Given the description of an element on the screen output the (x, y) to click on. 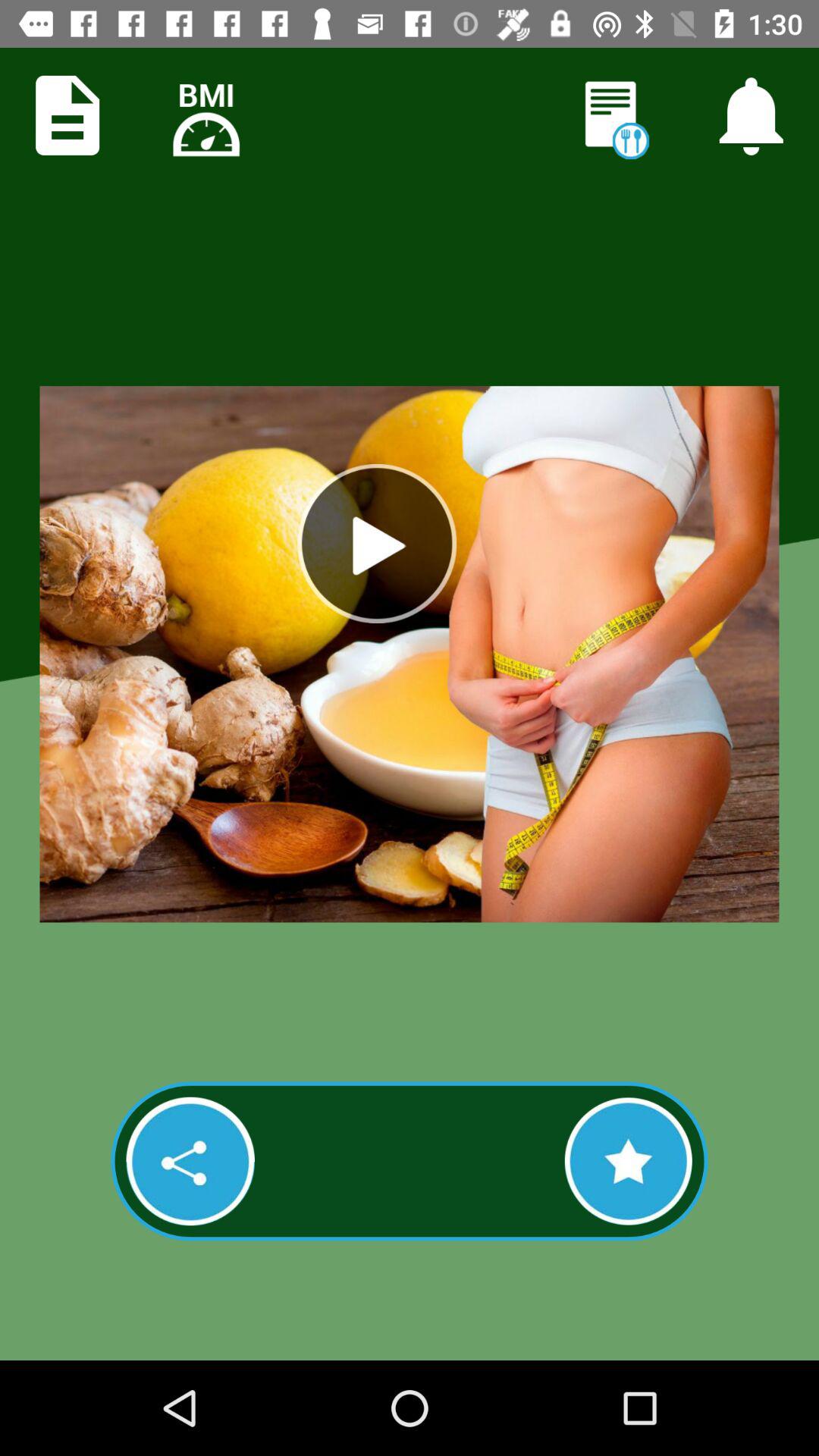
notifications are unread (613, 117)
